Given the description of an element on the screen output the (x, y) to click on. 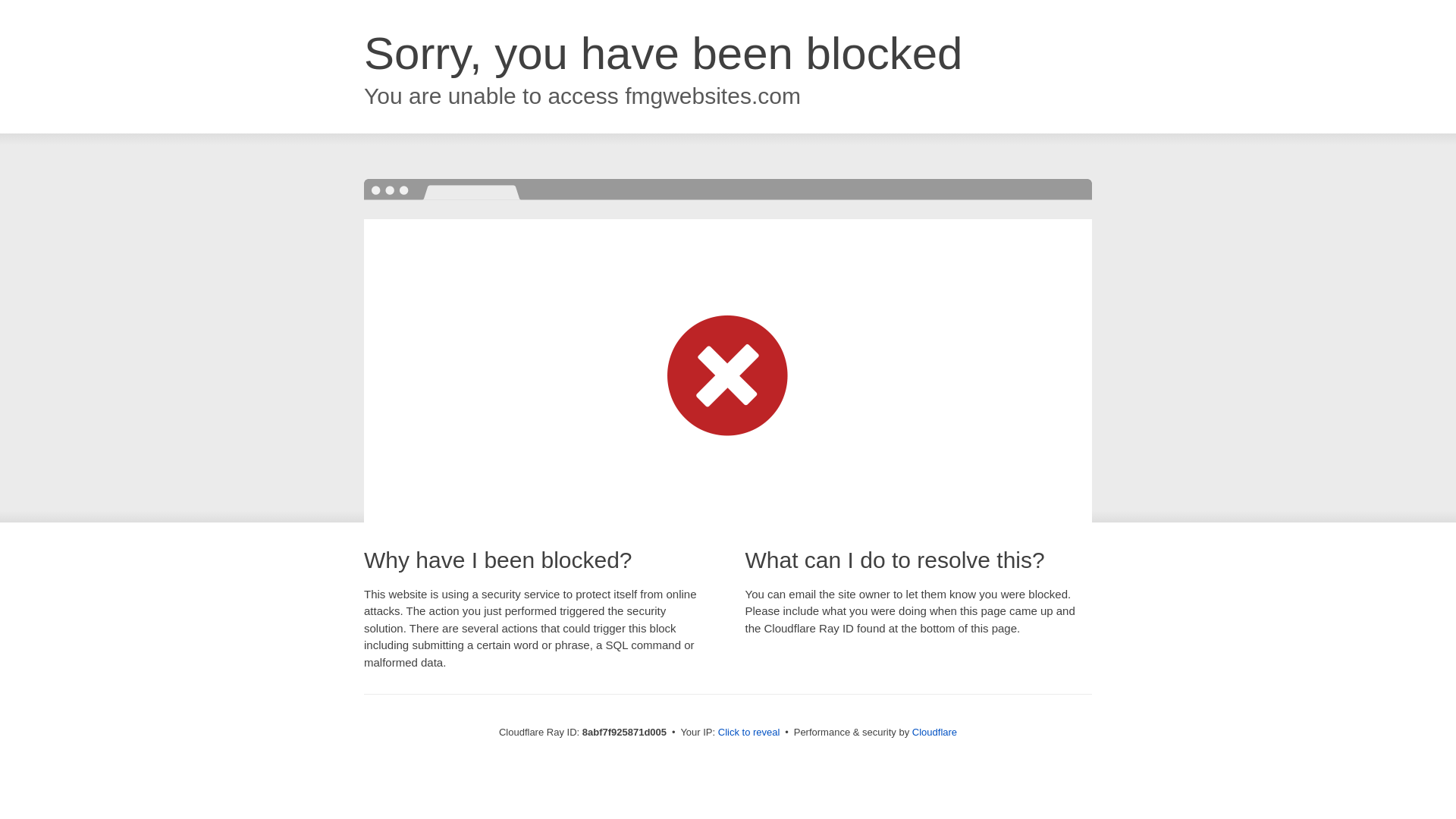
Cloudflare (934, 731)
Click to reveal (748, 732)
